Given the description of an element on the screen output the (x, y) to click on. 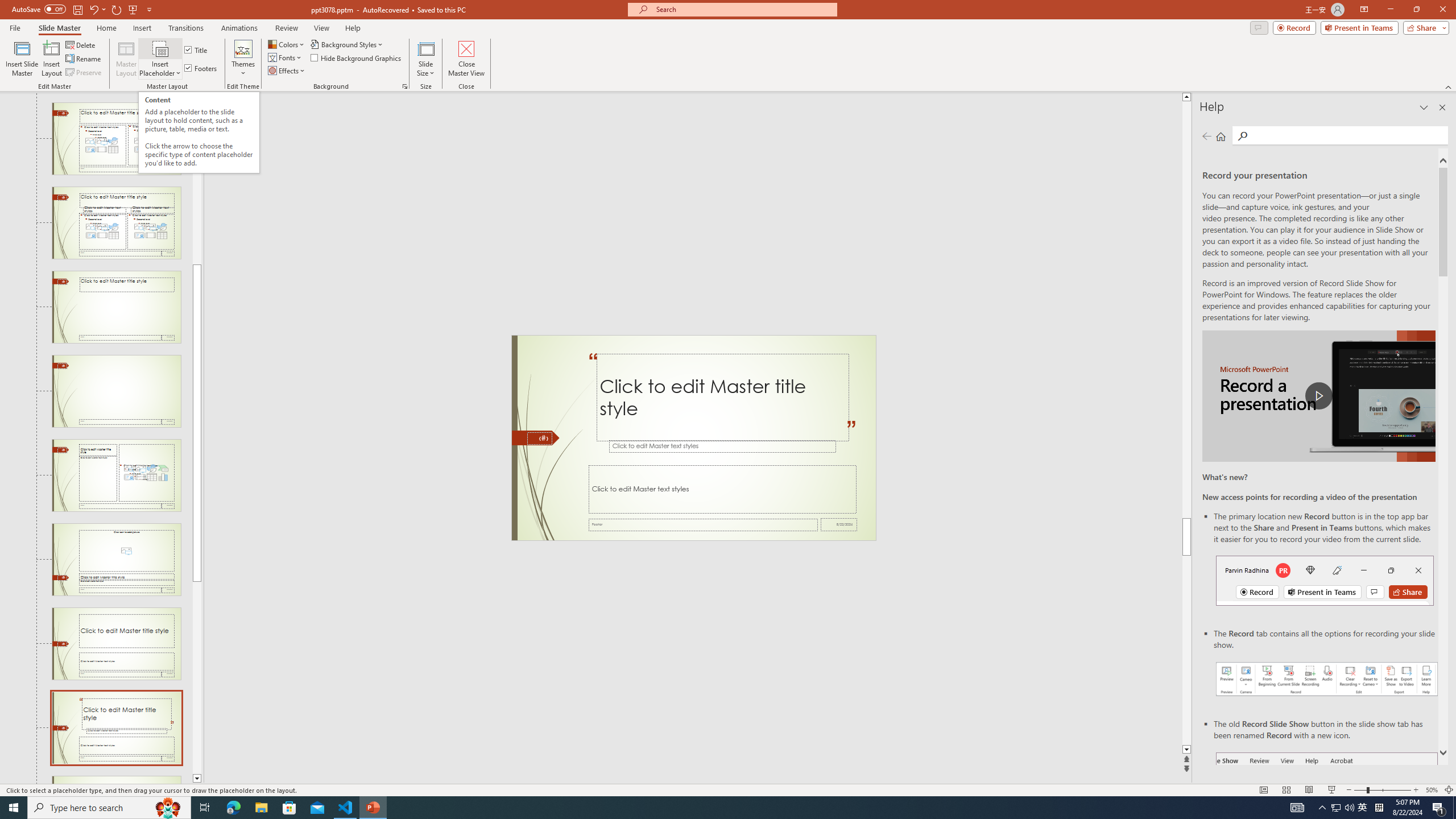
Slide Comparison Layout: used by no slides (116, 222)
Slide Master (59, 28)
play Record a Presentation (1318, 395)
TextBox (722, 489)
Record button in top bar (1324, 580)
